Given the description of an element on the screen output the (x, y) to click on. 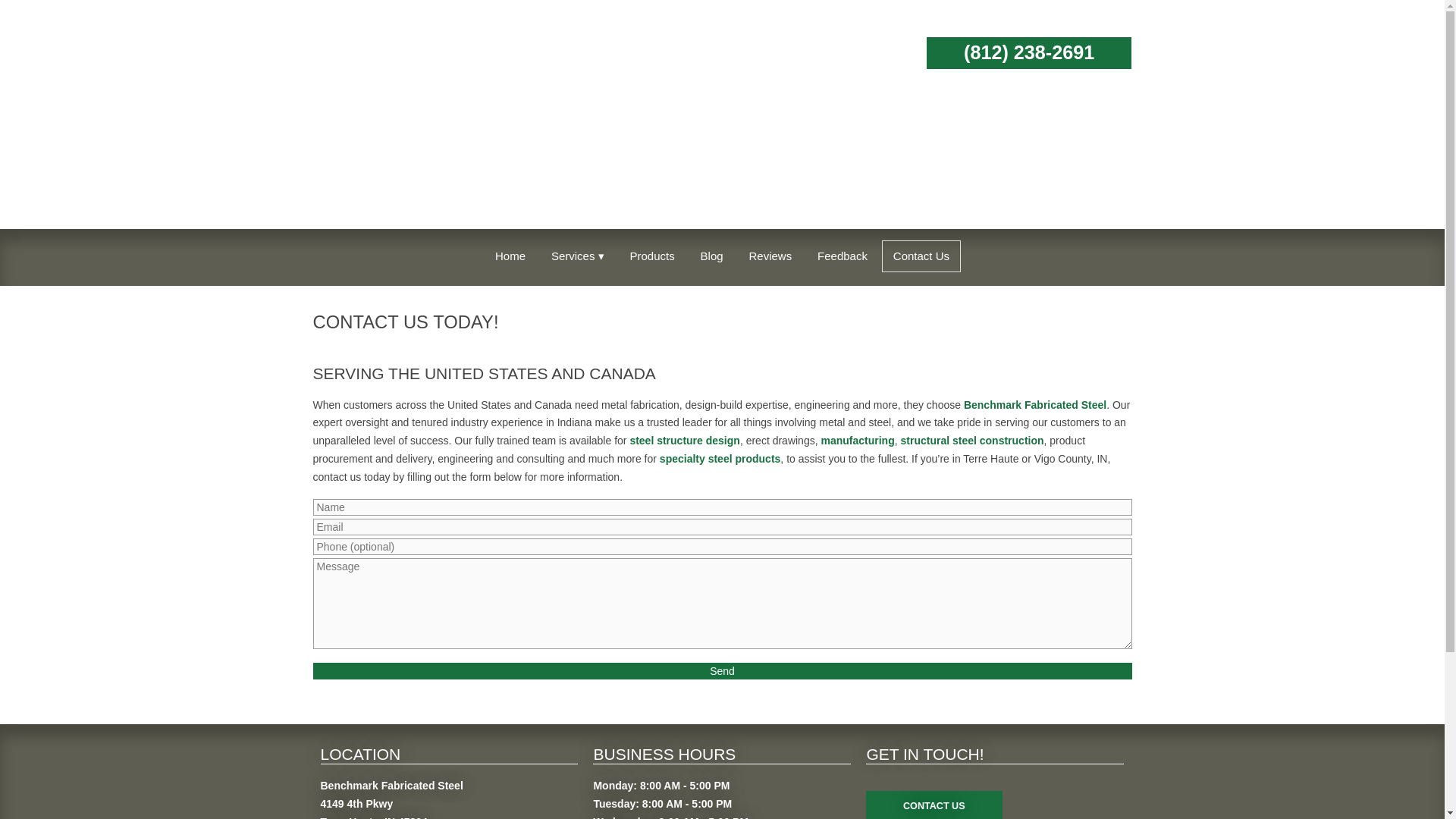
structural steel construction (972, 440)
Blog (711, 255)
Feedback (842, 255)
Send (722, 670)
Send (722, 670)
specialty steel products (719, 458)
Contact Us (921, 255)
manufacturing (857, 440)
steel structure design (683, 440)
Products (651, 255)
